Given the description of an element on the screen output the (x, y) to click on. 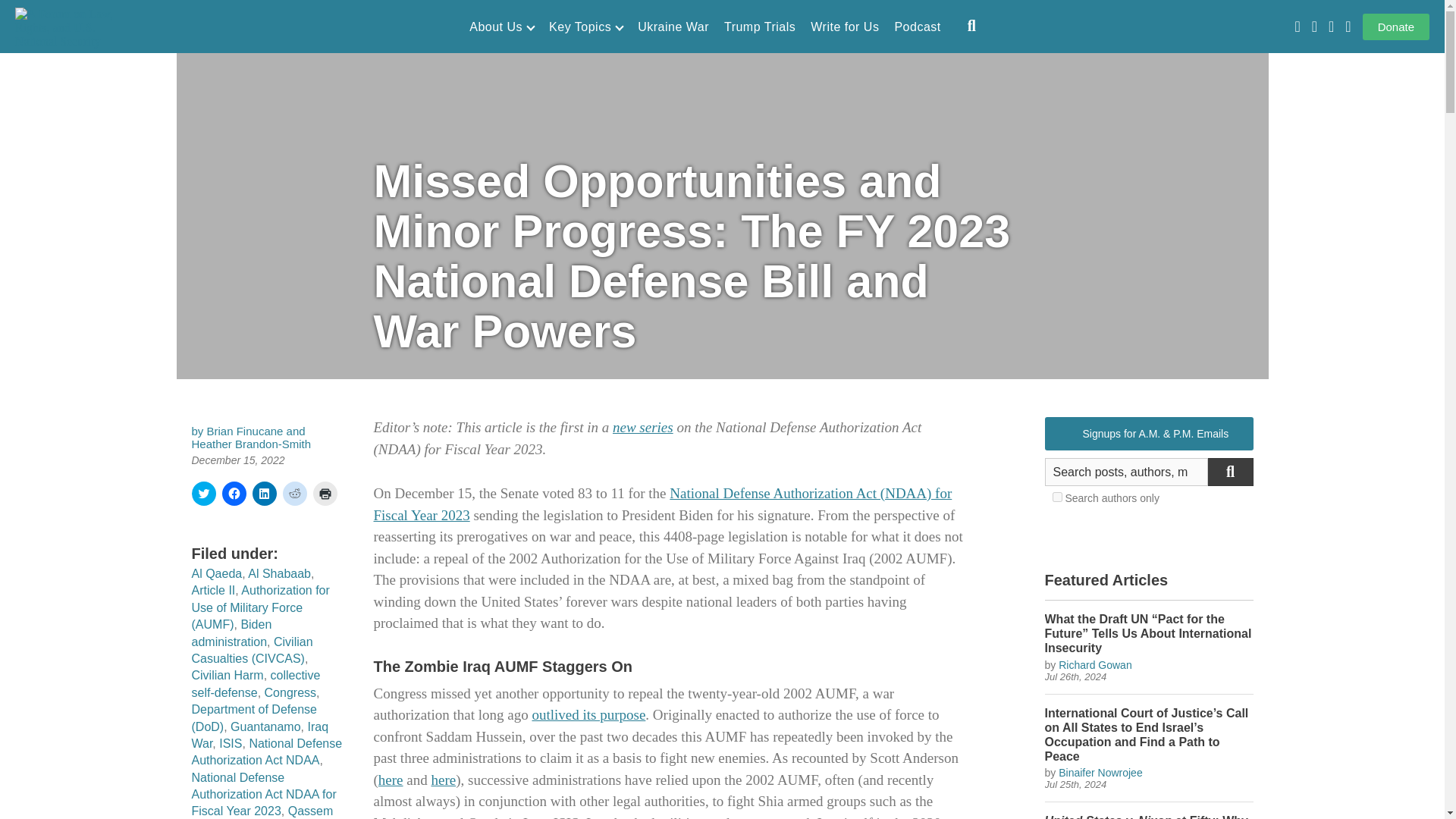
Profile and articles by Heather Brandon-Smith (250, 443)
Profile and articles by Binaifer Nowrojee (1100, 772)
Search for: (1126, 471)
Click to share on Facebook (233, 493)
Ukraine War (673, 27)
Write for Us (844, 27)
Key Topics (585, 27)
Profile and articles by Richard Gowan (1095, 664)
Follow us on YouTube (1297, 27)
Click to print (324, 493)
Profile and articles by Brian Finucane (244, 431)
About Us (501, 27)
Follow us on Linkedin (1348, 27)
on (1057, 497)
Click to share on Twitter (202, 493)
